Given the description of an element on the screen output the (x, y) to click on. 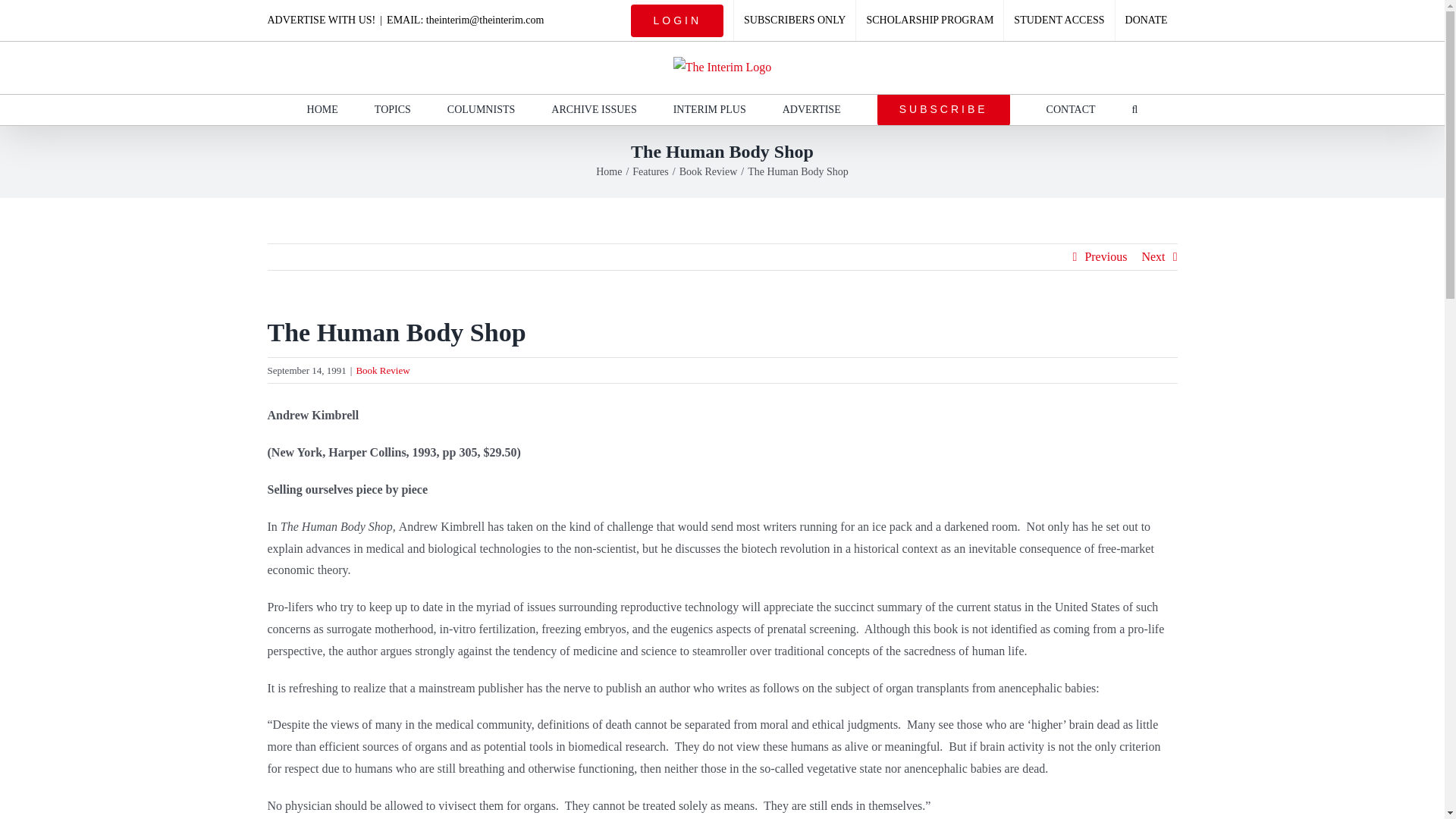
Book Review (708, 171)
LOGIN (677, 20)
DONATE (1146, 20)
Features (649, 171)
SUBSCRIBERS ONLY (794, 20)
COLUMNISTS (480, 110)
ARCHIVE ISSUES (593, 110)
HOME (322, 110)
Next (1152, 257)
SCHOLARSHIP PROGRAM (929, 20)
